Given the description of an element on the screen output the (x, y) to click on. 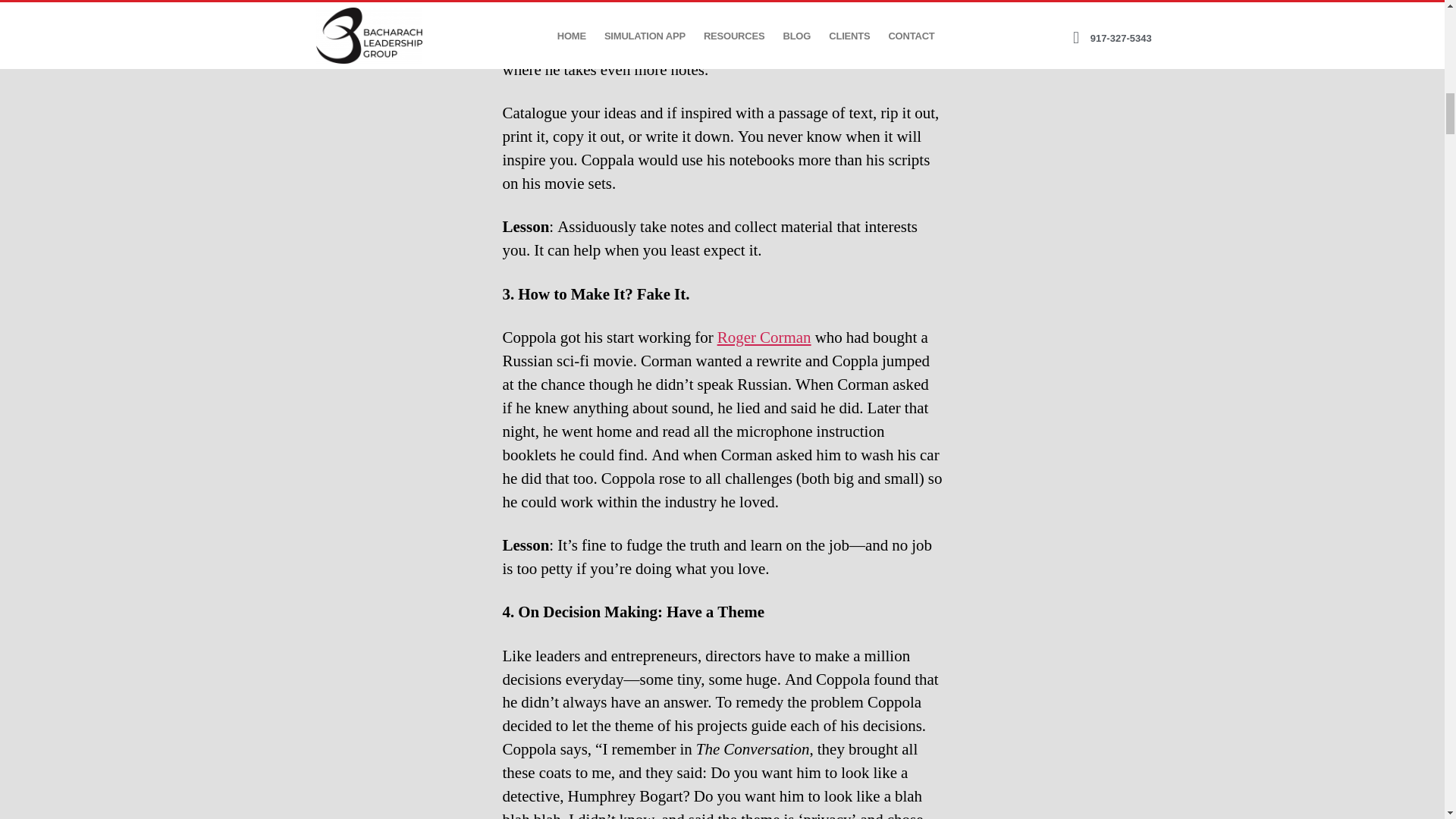
Roger Corman (763, 337)
